Given the description of an element on the screen output the (x, y) to click on. 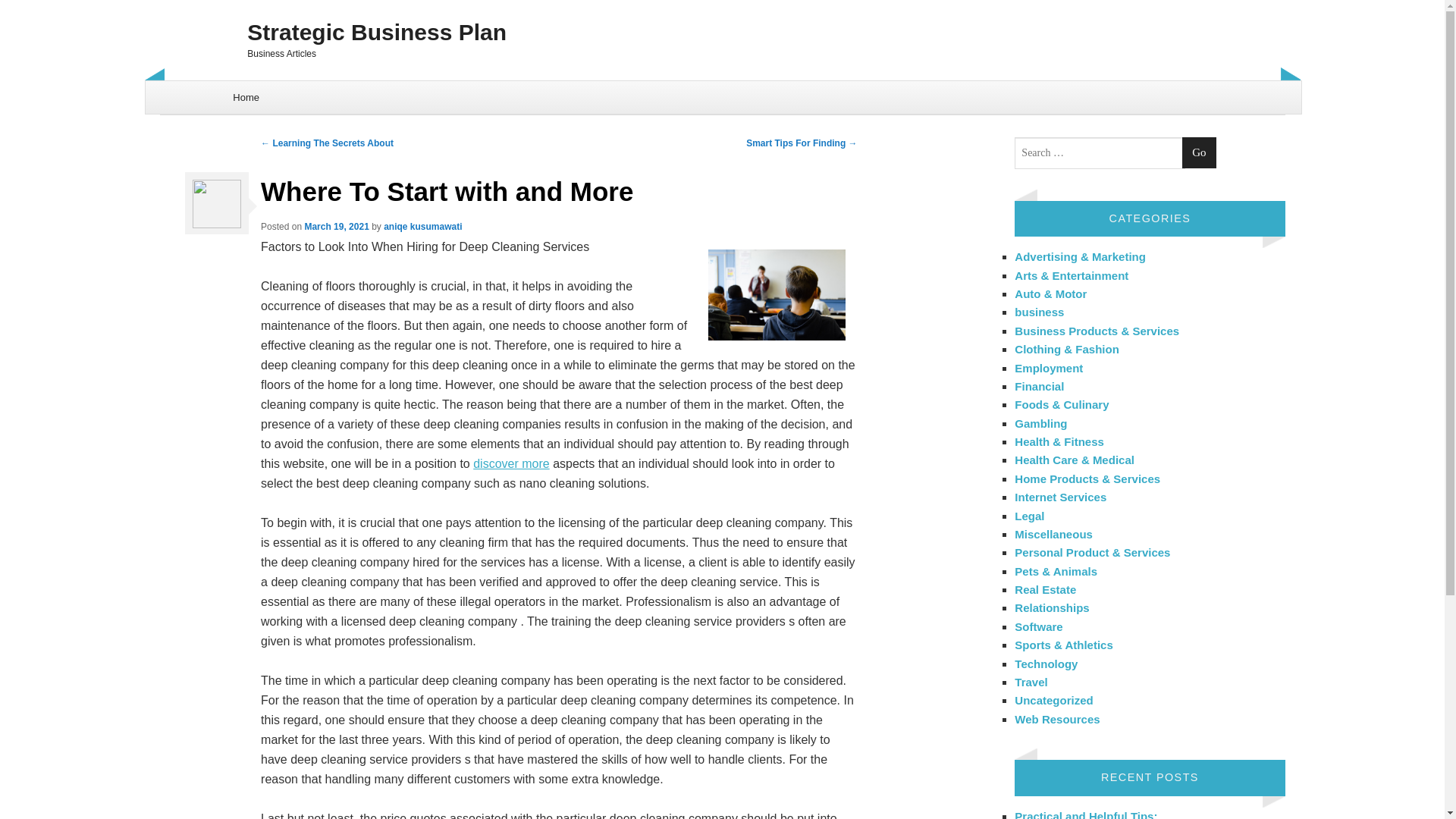
Software (1038, 626)
Skip to content (183, 89)
Strategic Business Plan (721, 31)
Uncategorized (1053, 699)
Internet Services (1060, 496)
Travel (1030, 681)
aniqe kusumawati (422, 226)
4:45 am (336, 226)
Go (1198, 152)
discover more (510, 463)
Go (1198, 152)
View all posts by aniqe kusumawati (422, 226)
Financial (1039, 386)
Miscellaneous (1053, 533)
March 19, 2021 (336, 226)
